Given the description of an element on the screen output the (x, y) to click on. 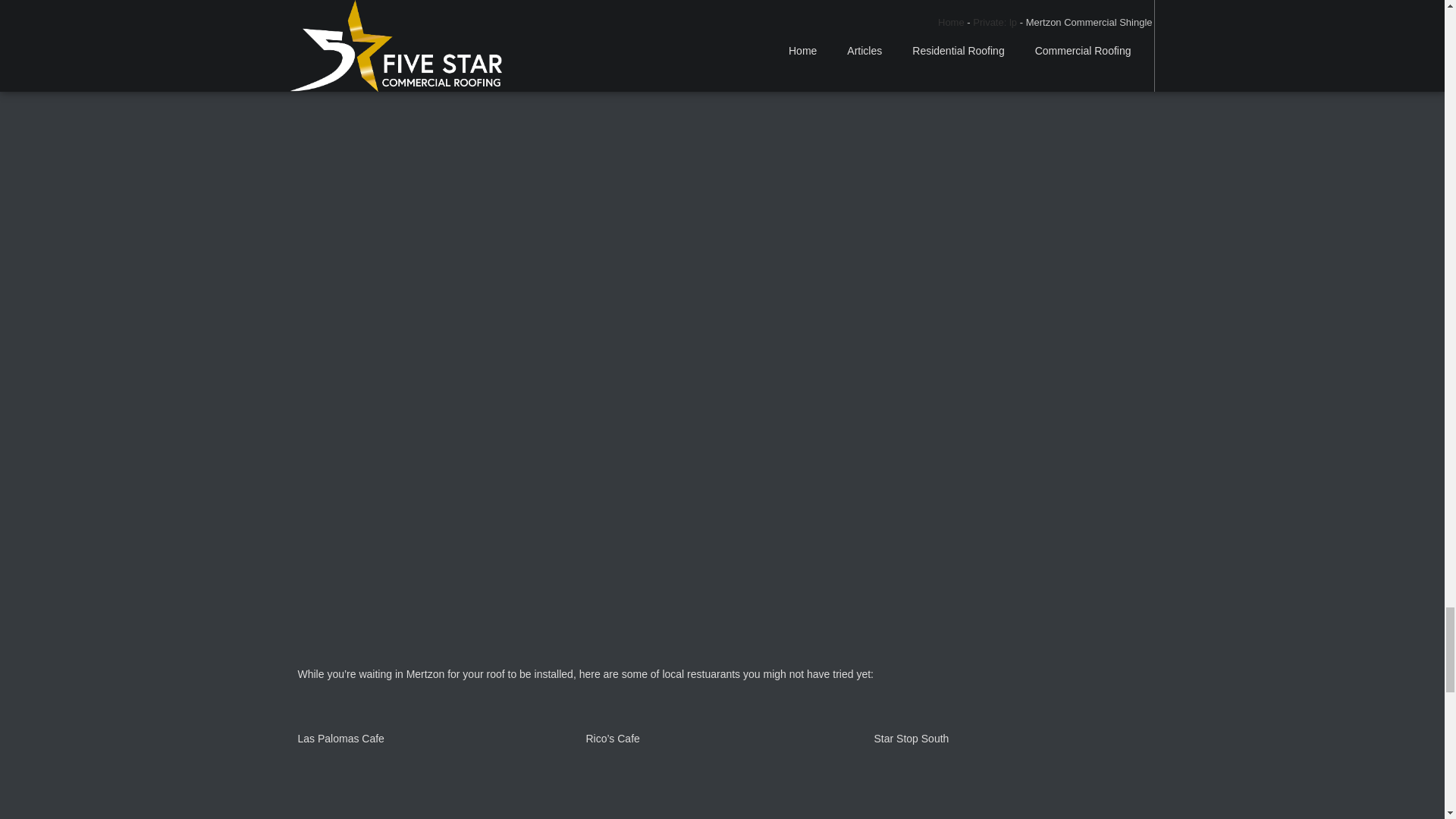
Mertzon Commercial Shingle Roofs 13 (1010, 783)
Mertzon Commercial Shingle Roofs 9 (433, 783)
Mertzon Commercial Shingle Roofs 11 (722, 783)
